Given the description of an element on the screen output the (x, y) to click on. 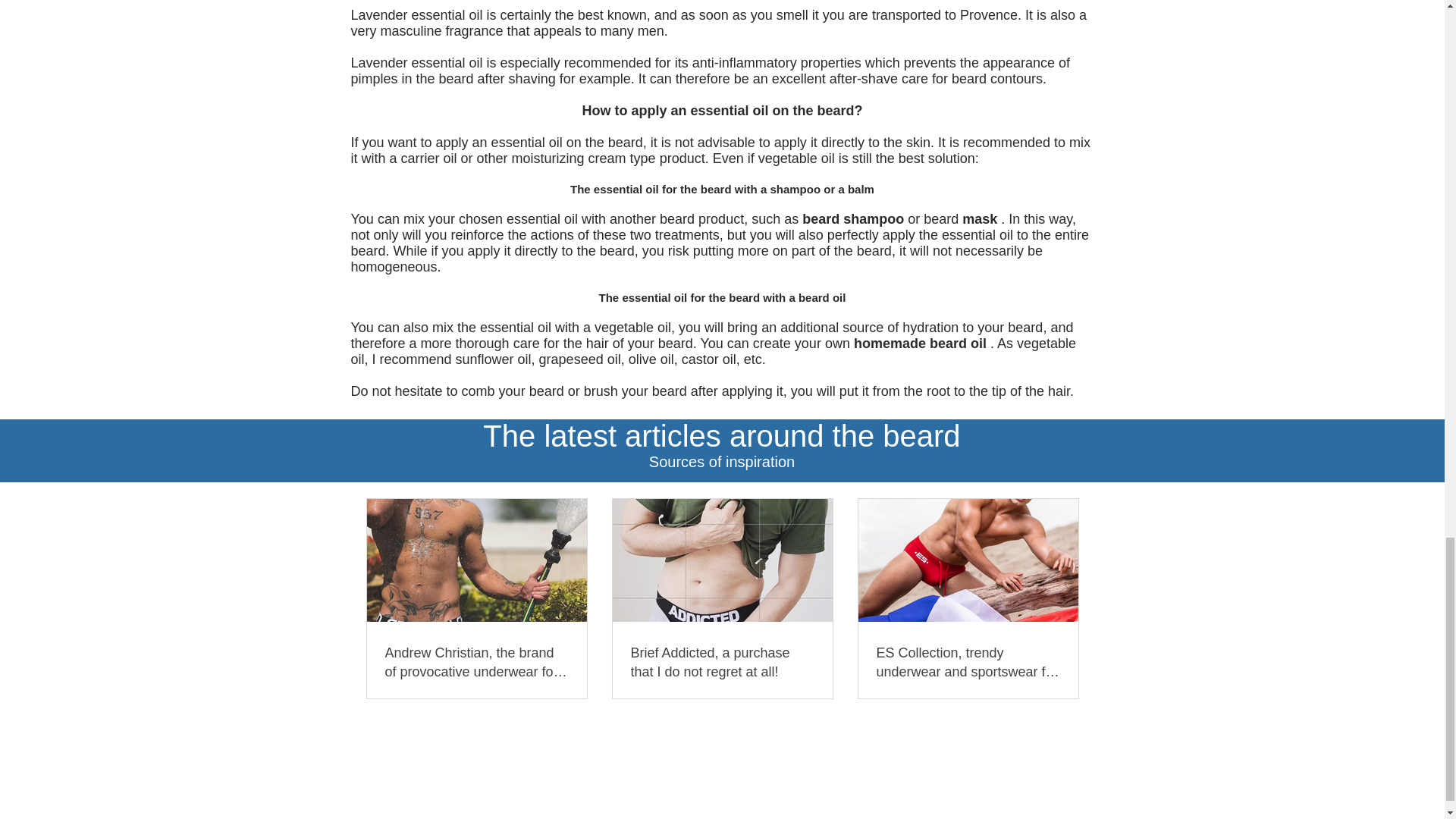
mask (979, 218)
ES Collection, trendy underwear and sportswear for men (967, 662)
beard shampoo (853, 218)
Contact (631, 739)
About (514, 739)
Andrew Christian, the brand of provocative underwear for men (477, 662)
homemade beard oil (920, 343)
Brief Addicted, a purchase that I do not regret at all! (721, 662)
blog - Beard blog (742, 739)
Partnership (569, 739)
Legal notice (831, 739)
Privacy policy (911, 739)
